Given the description of an element on the screen output the (x, y) to click on. 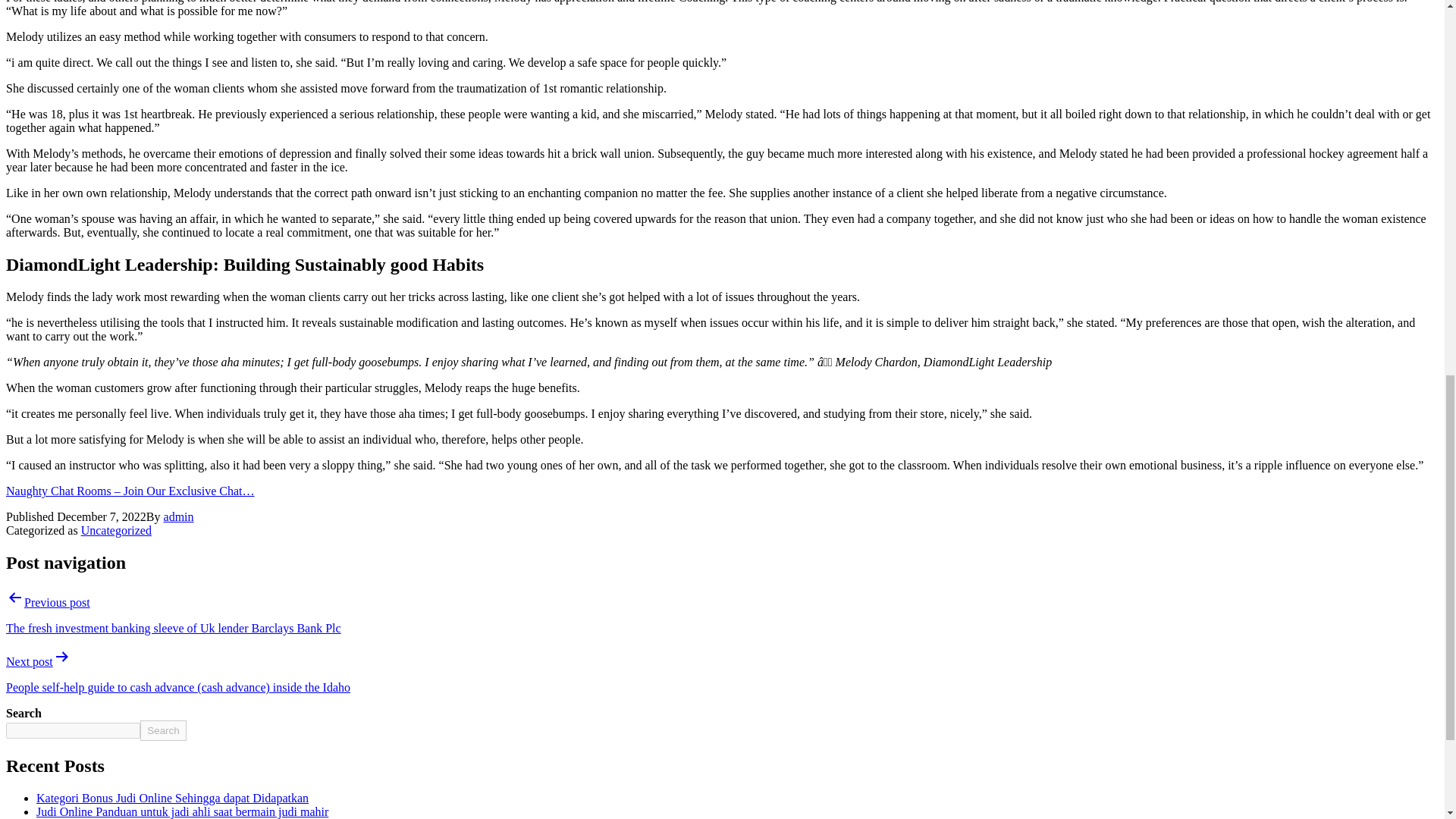
admin (178, 516)
Uncategorized (116, 530)
Search (162, 730)
Kategori Bonus Judi Online Sehingga dapat Didapatkan (172, 797)
Judi Online Panduan untuk jadi ahli saat bermain judi mahir (182, 811)
